Given the description of an element on the screen output the (x, y) to click on. 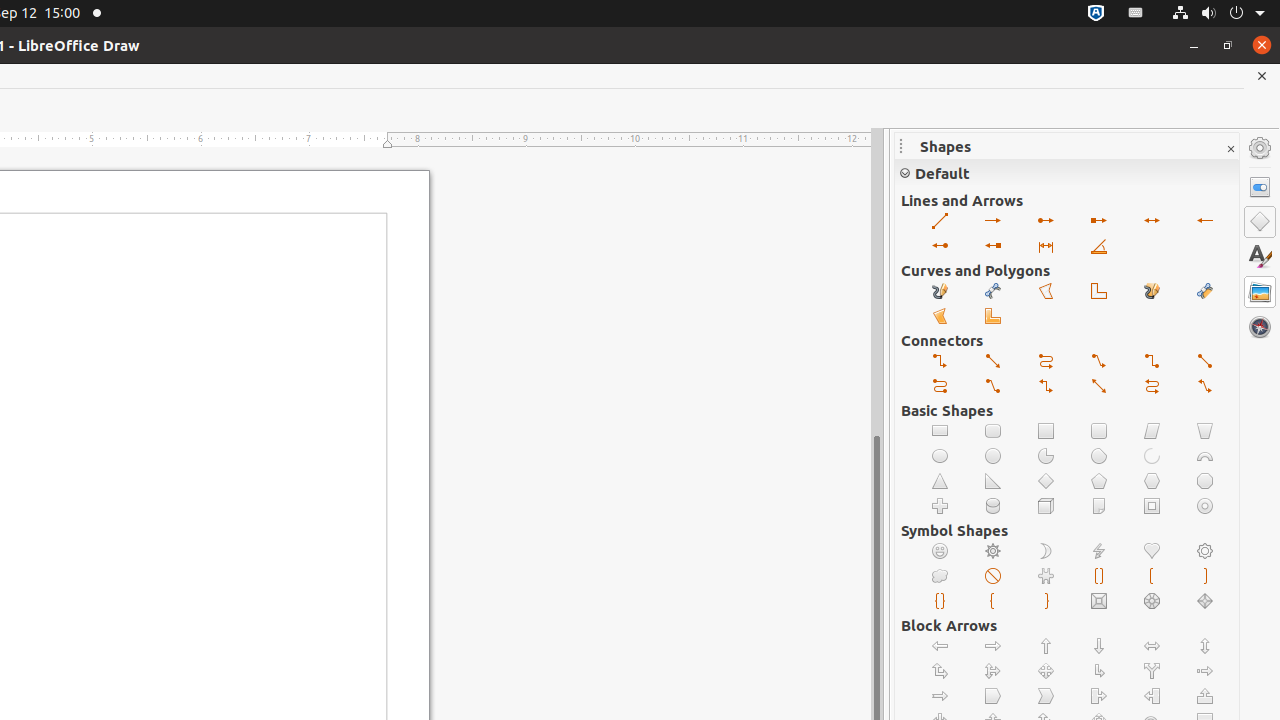
Prohibited Element type: list-item (993, 576)
Left Arrow Callout Element type: list-item (1152, 696)
Lightning Bolt Element type: list-item (1099, 551)
Connector Ends with Arrow Element type: list-item (940, 361)
Smiley Face Element type: list-item (940, 551)
